Given the description of an element on the screen output the (x, y) to click on. 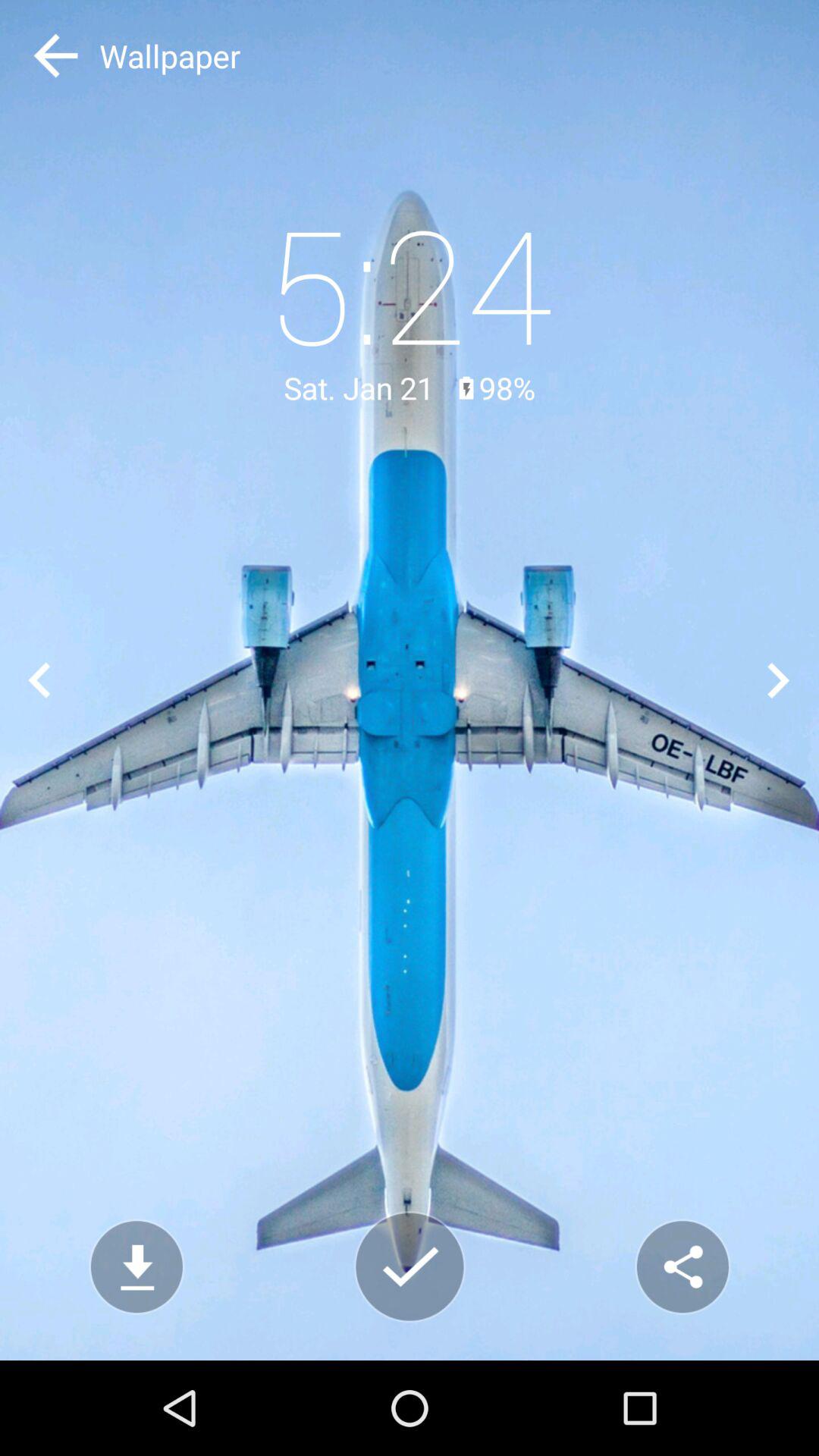
navigate to the right (779, 680)
